Given the description of an element on the screen output the (x, y) to click on. 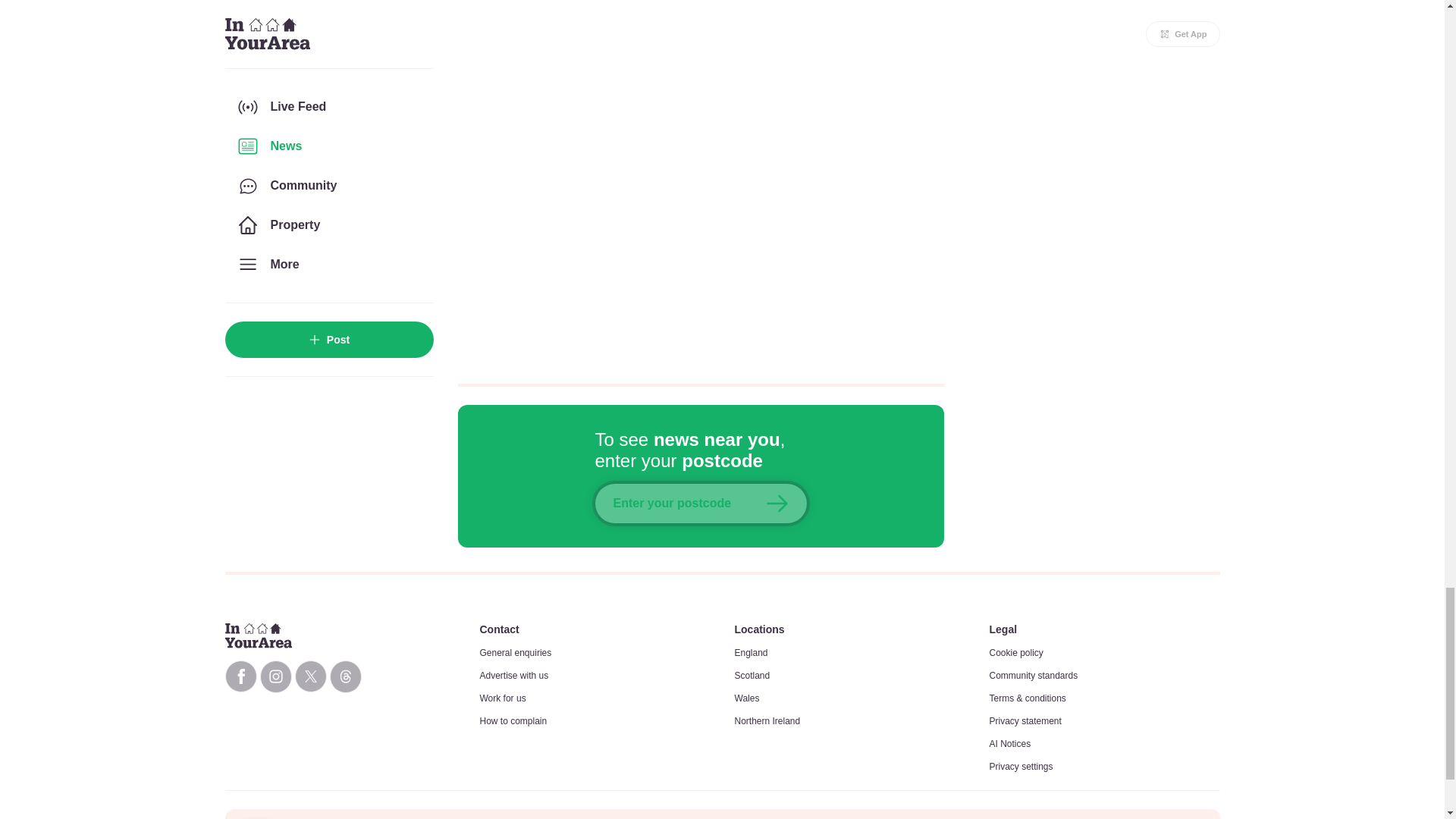
InYourArea Instagram (275, 676)
InYourArea Threads (345, 676)
InYourArea Facebook (240, 676)
InYourArea X (310, 676)
